Given the description of an element on the screen output the (x, y) to click on. 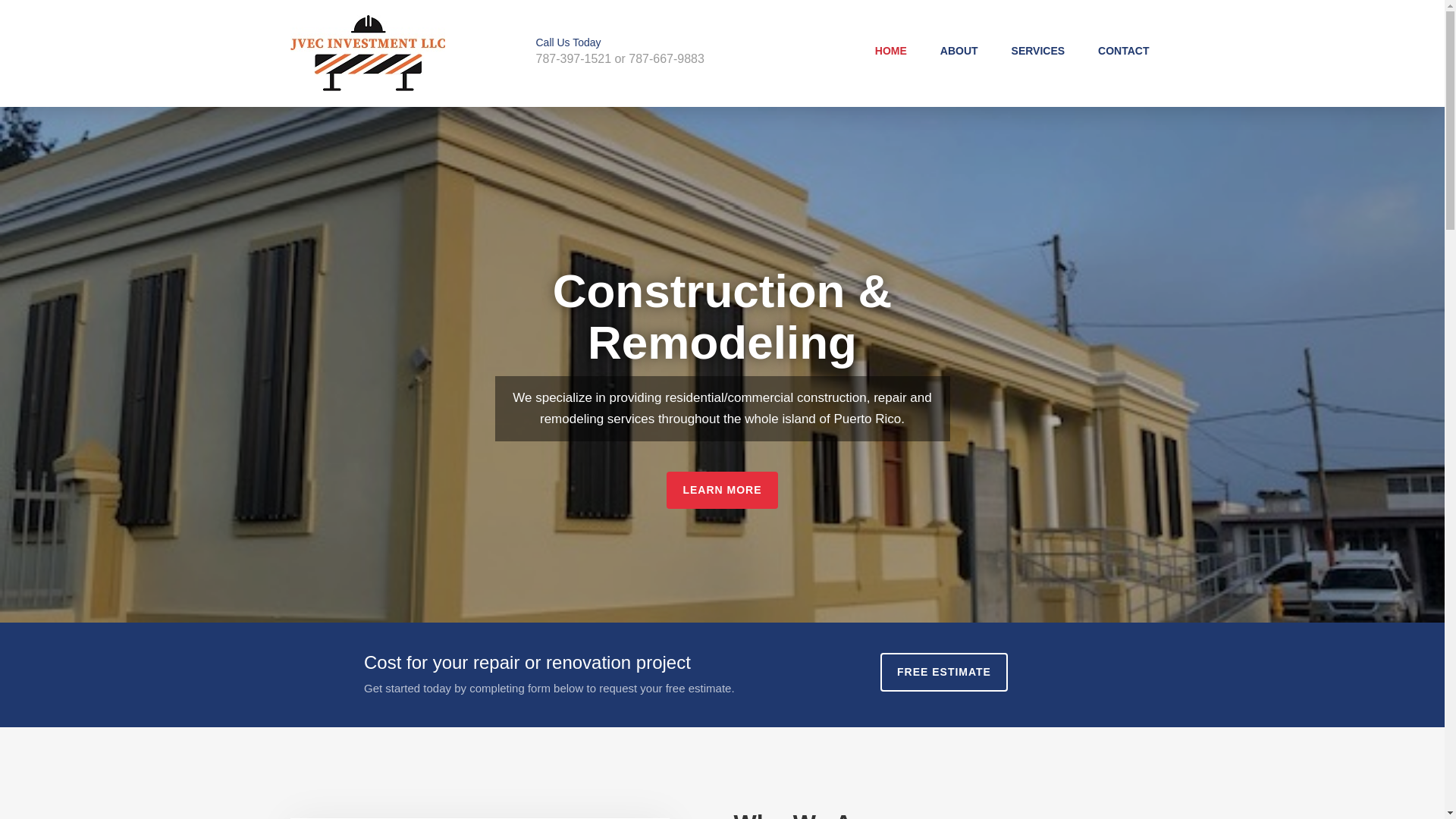
FREE ESTIMATE (943, 671)
LEARN MORE (721, 489)
HOME (890, 50)
CONTACT (1123, 50)
HOME (890, 50)
SERVICES (1038, 50)
ABOUT (959, 50)
LEARN MORE (721, 489)
CONTACT (1123, 50)
FREE ESTIMATE (943, 671)
SERVICES (1038, 50)
ABOUT (959, 50)
